Given the description of an element on the screen output the (x, y) to click on. 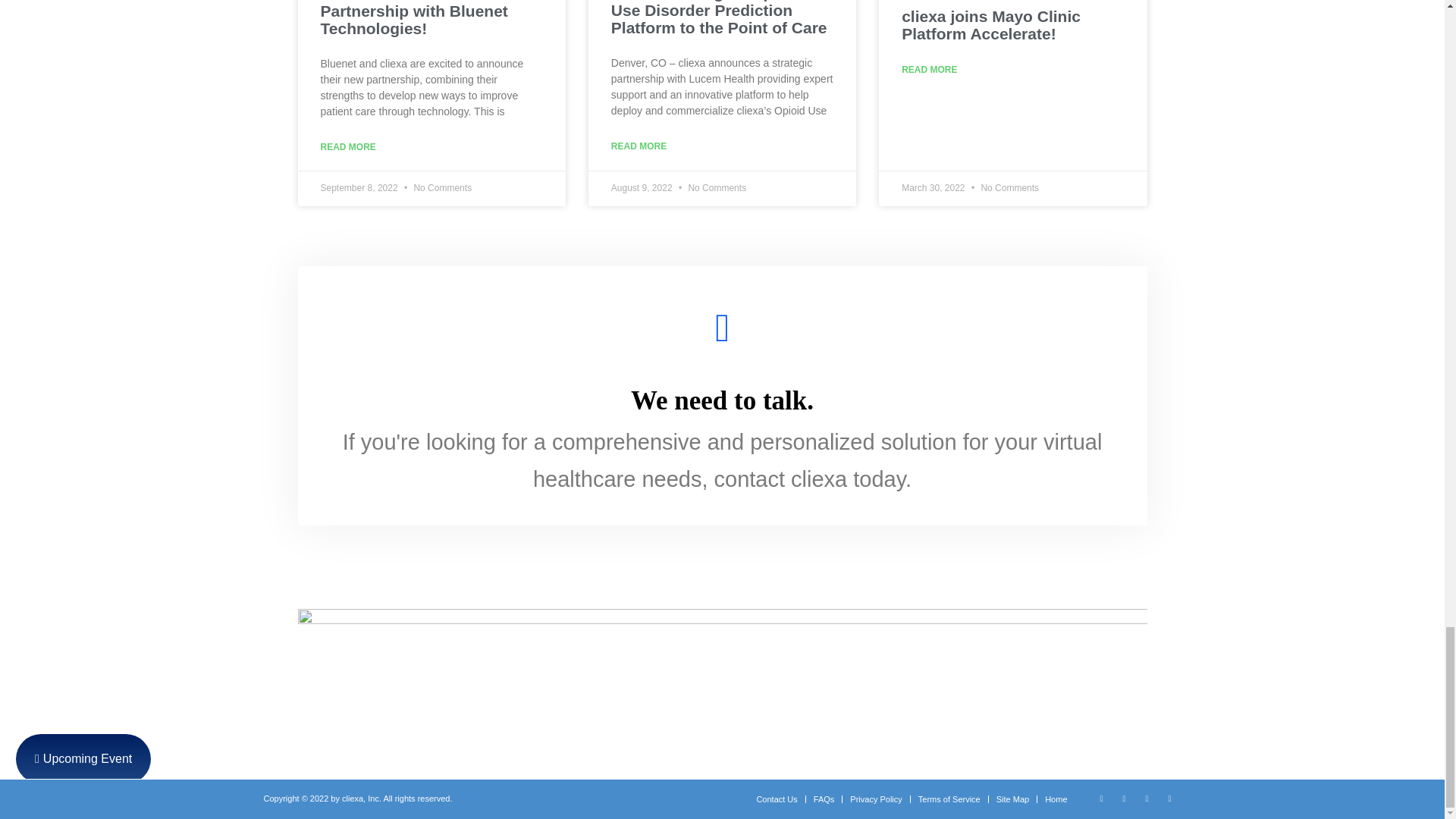
LinkedIn (1124, 798)
Youtube (1169, 798)
Facebook (1146, 798)
Twitter (1101, 798)
Home (1056, 798)
